Given the description of an element on the screen output the (x, y) to click on. 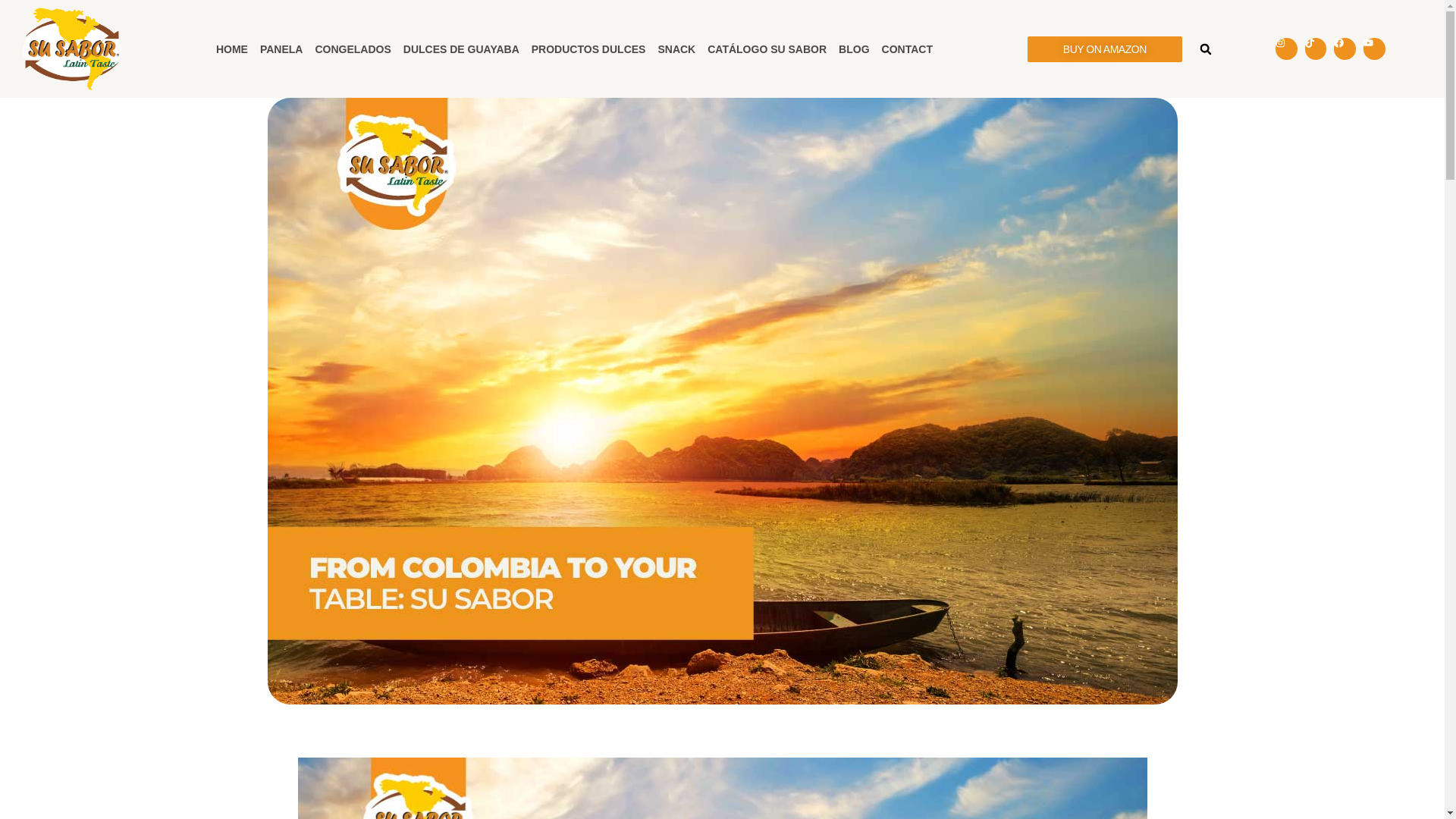
CONGELADOS (352, 48)
DULCES DE GUAYABA (461, 48)
SNACK (675, 48)
PANELA (280, 48)
PRODUCTOS DULCES (588, 48)
BLOG (853, 48)
HOME (231, 48)
BUY ON AMAZON (1104, 49)
CONTACT (907, 48)
